Given the description of an element on the screen output the (x, y) to click on. 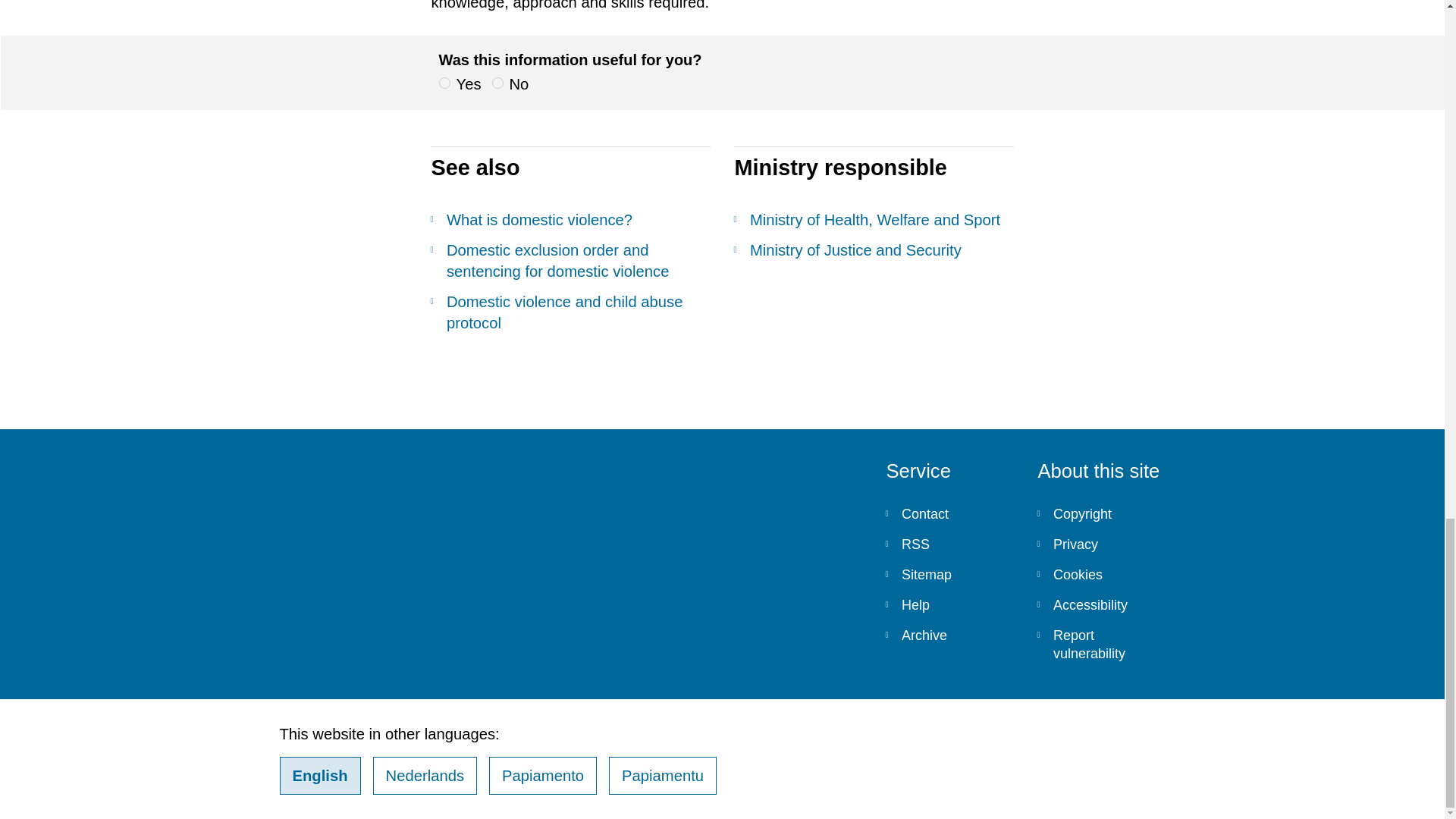
Accessibility (1100, 604)
Papiamentu (662, 775)
Ministry of Justice and Security (873, 250)
Domestic violence and child abuse protocol (570, 312)
Sitemap (949, 574)
ja (443, 82)
nee (497, 82)
What is domestic violence? (570, 219)
Privacy (1100, 544)
Cookies (1100, 574)
